Given the description of an element on the screen output the (x, y) to click on. 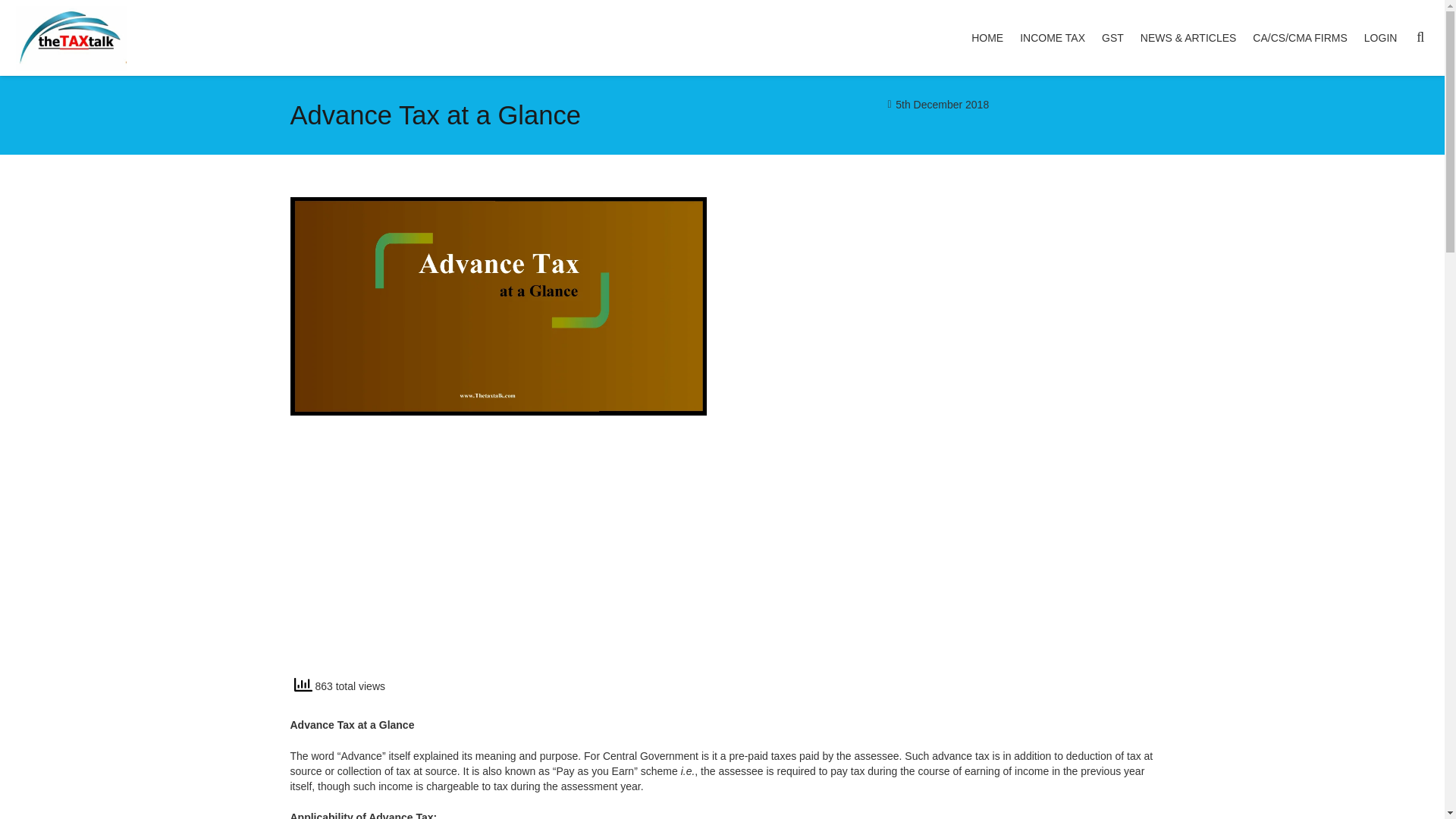
INCOME TAX (1052, 38)
Advertisement (946, 561)
